Given the description of an element on the screen output the (x, y) to click on. 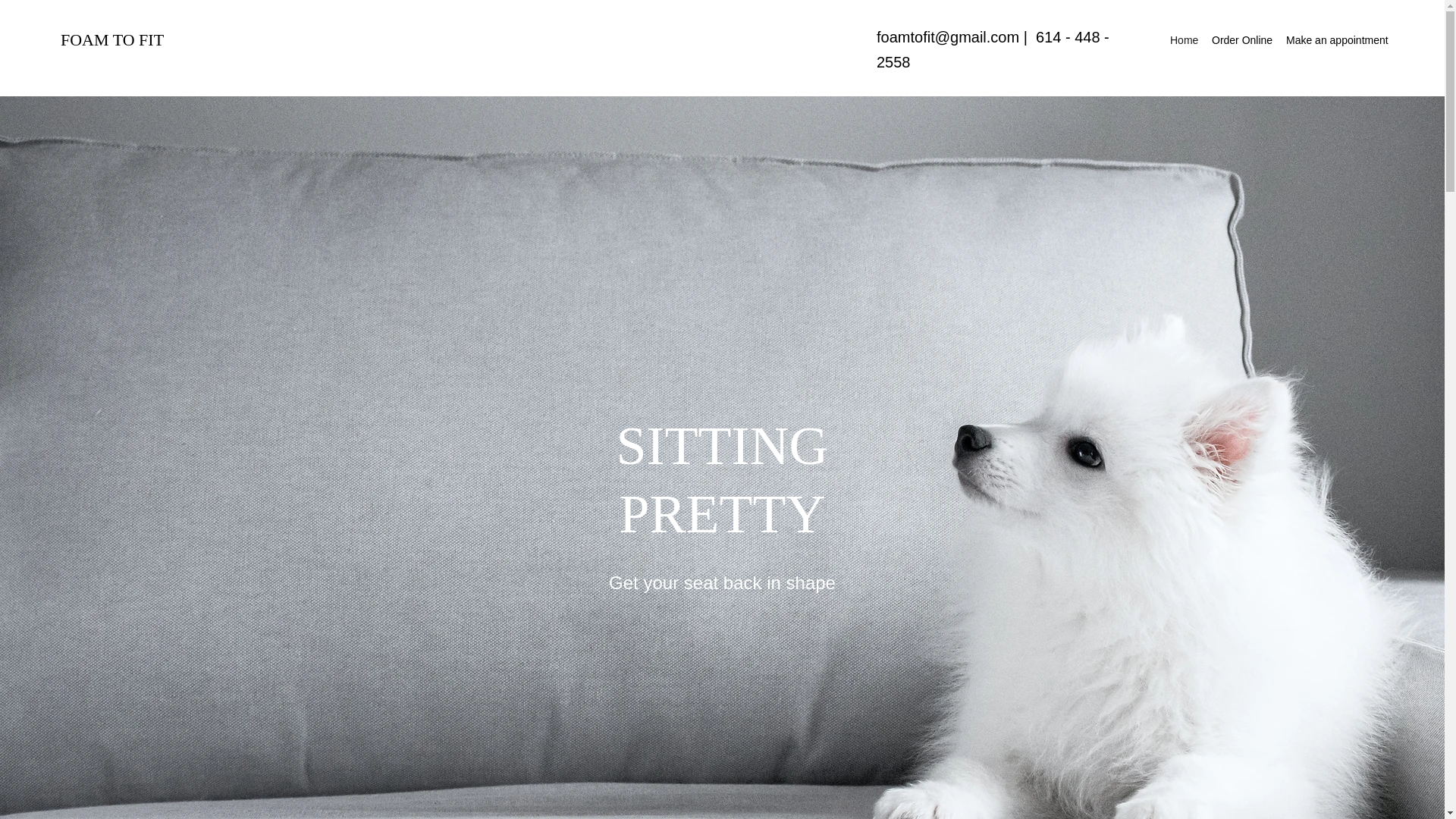
FOAM TO FIT (112, 39)
Make an appointment (1334, 39)
Home (1182, 39)
Order Online (1241, 39)
